Given the description of an element on the screen output the (x, y) to click on. 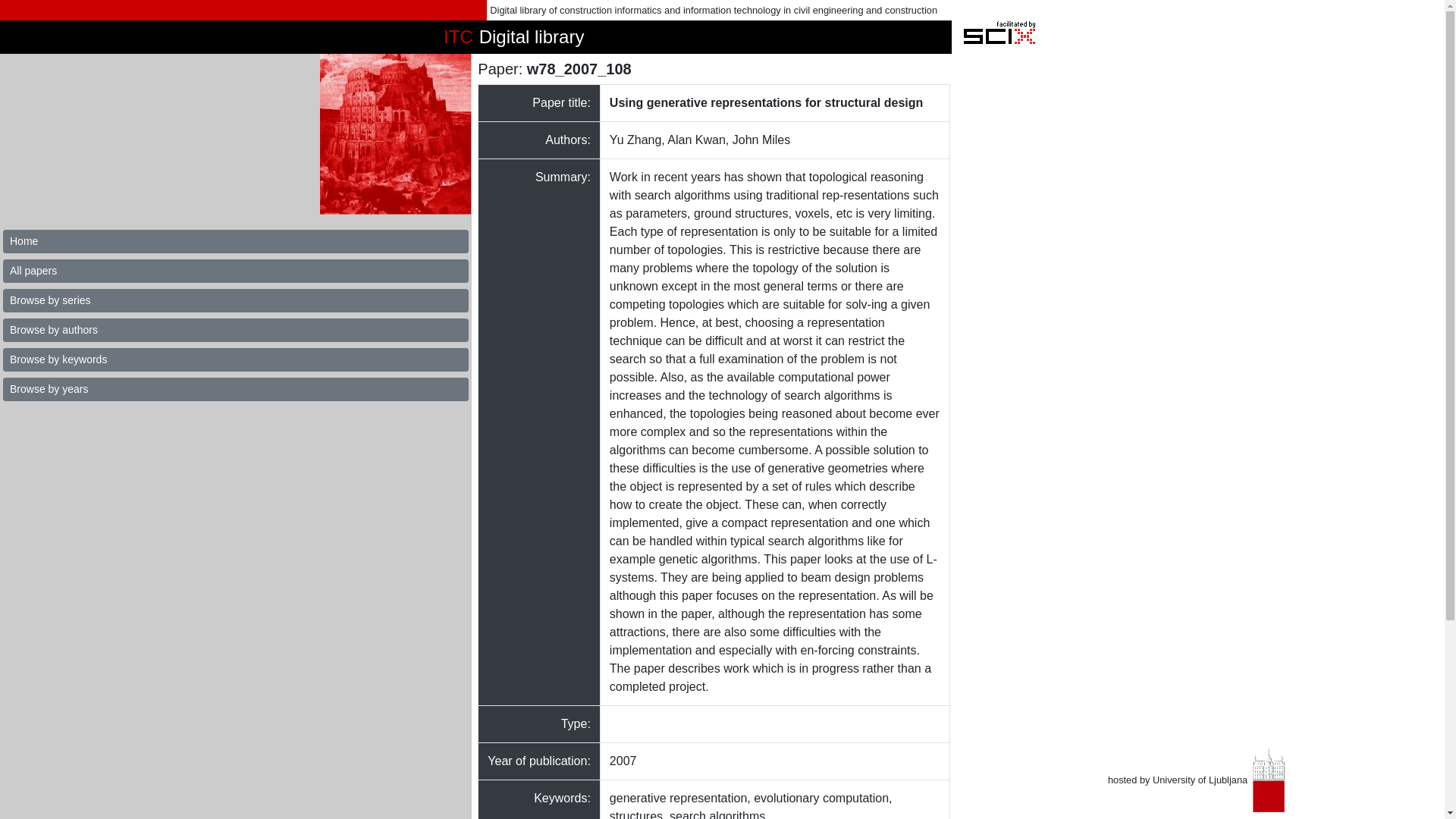
Home (235, 241)
Browse by keywords (235, 359)
Browse by authors (235, 330)
Browse by years (235, 389)
All papers (235, 270)
Browse by series (235, 300)
